Given the description of an element on the screen output the (x, y) to click on. 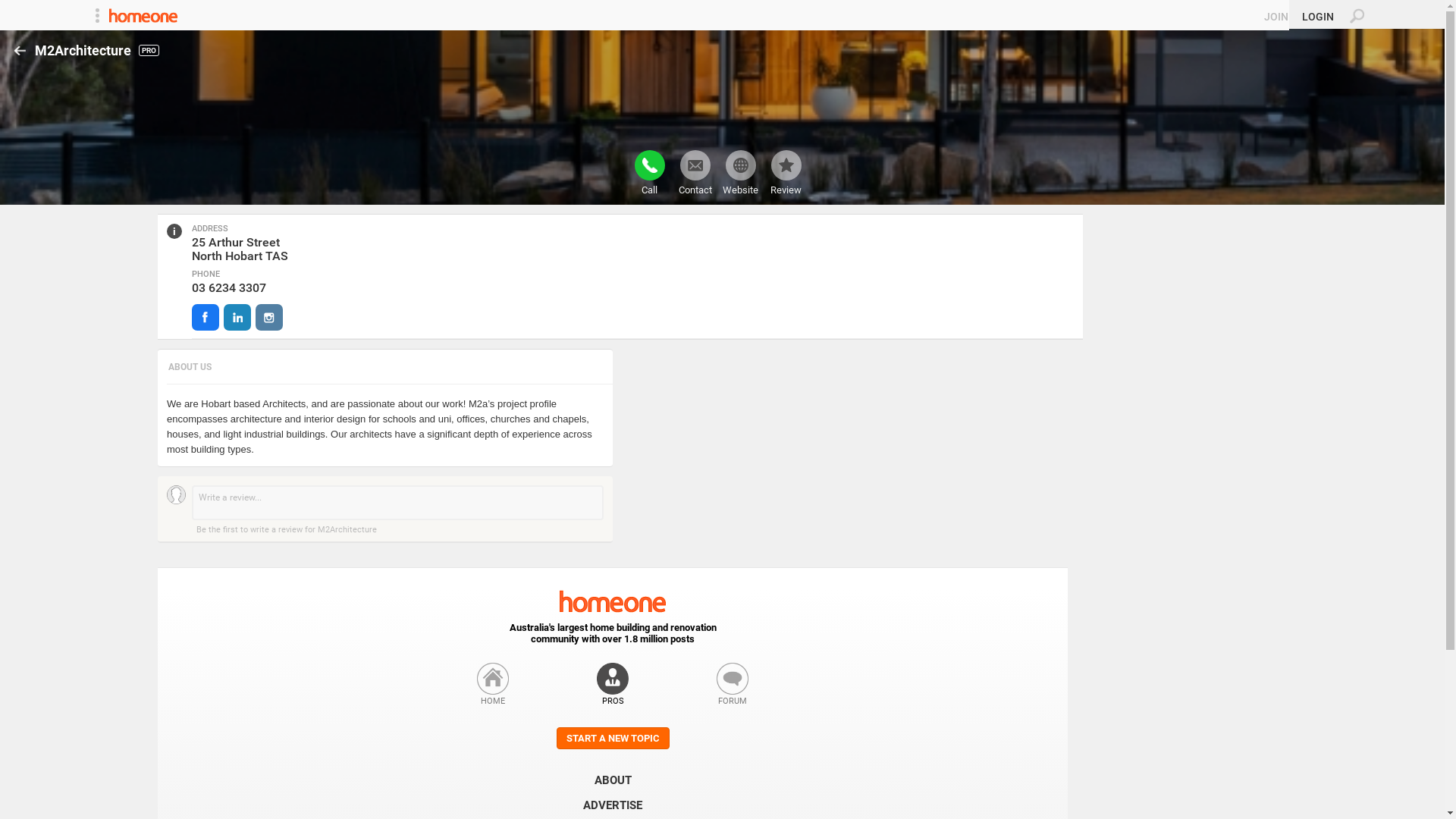
Submit Element type: text (18, 8)
ABOUT Element type: text (612, 780)
Visit M2Architecture on Instagram Element type: text (268, 317)
03 6234 3307 Element type: text (228, 287)
Visit M2Architecture on Facebook Element type: text (205, 317)
Visit M2Architecture on LinkedIn Element type: text (237, 317)
ADVERTISE Element type: text (612, 805)
Website Element type: text (739, 172)
Call Element type: text (648, 172)
